Given the description of an element on the screen output the (x, y) to click on. 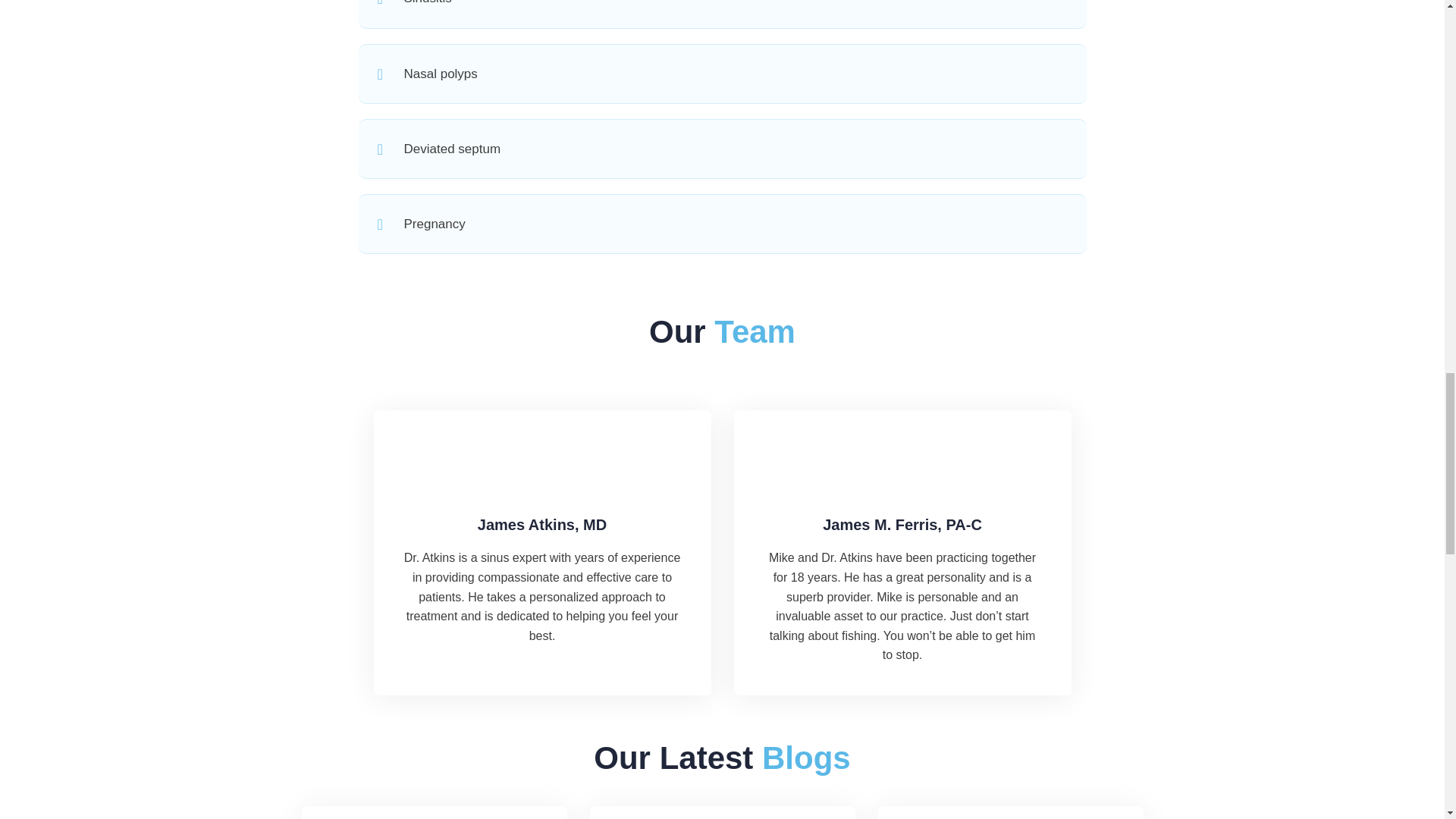
DR Atkins (542, 444)
James-1 (902, 444)
